Given the description of an element on the screen output the (x, y) to click on. 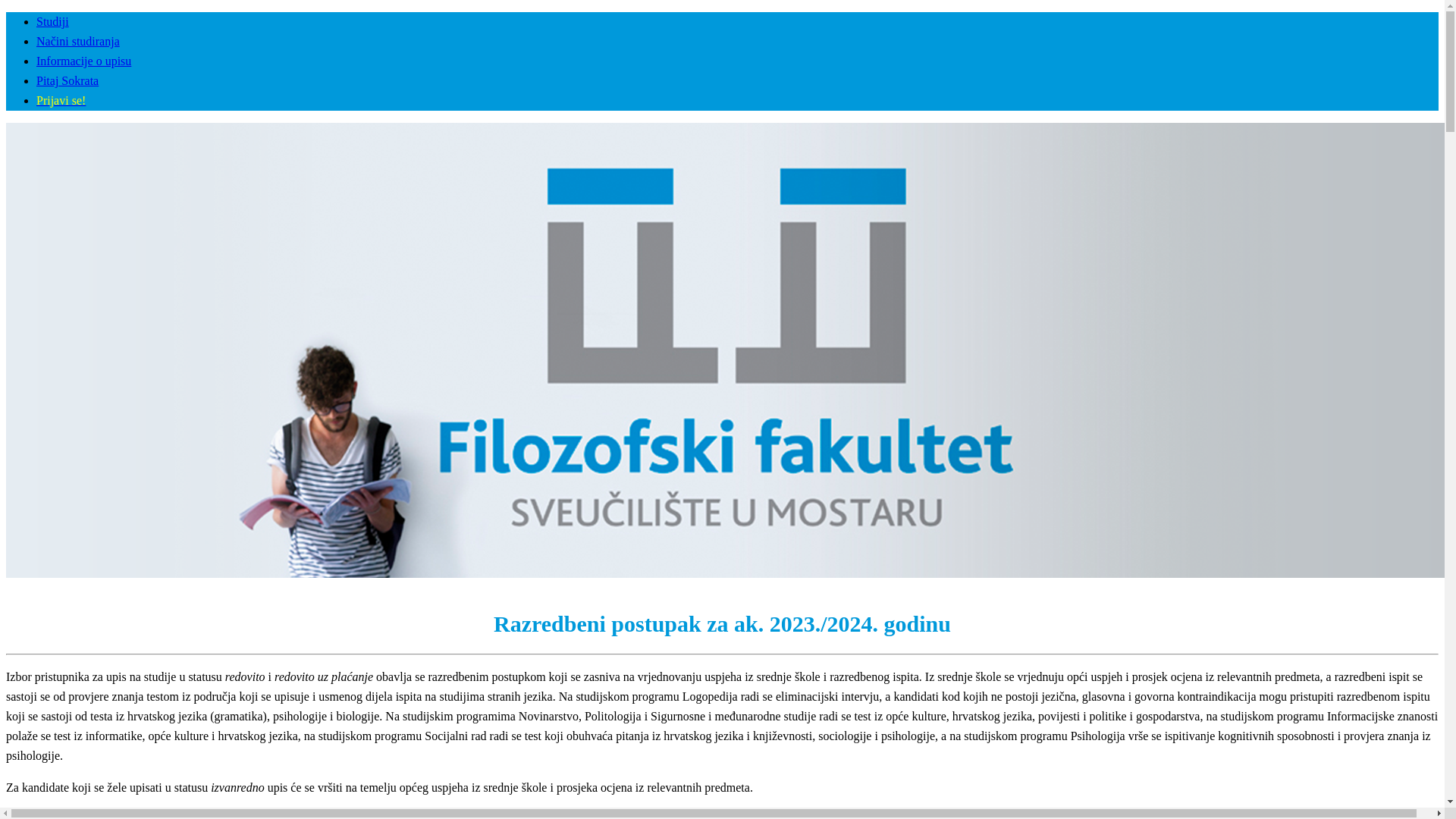
Pitaj Sokrata Element type: text (67, 80)
Studiji Element type: text (52, 21)
Prijavi se! Element type: text (60, 100)
Informacije o upisu Element type: text (83, 60)
